Given the description of an element on the screen output the (x, y) to click on. 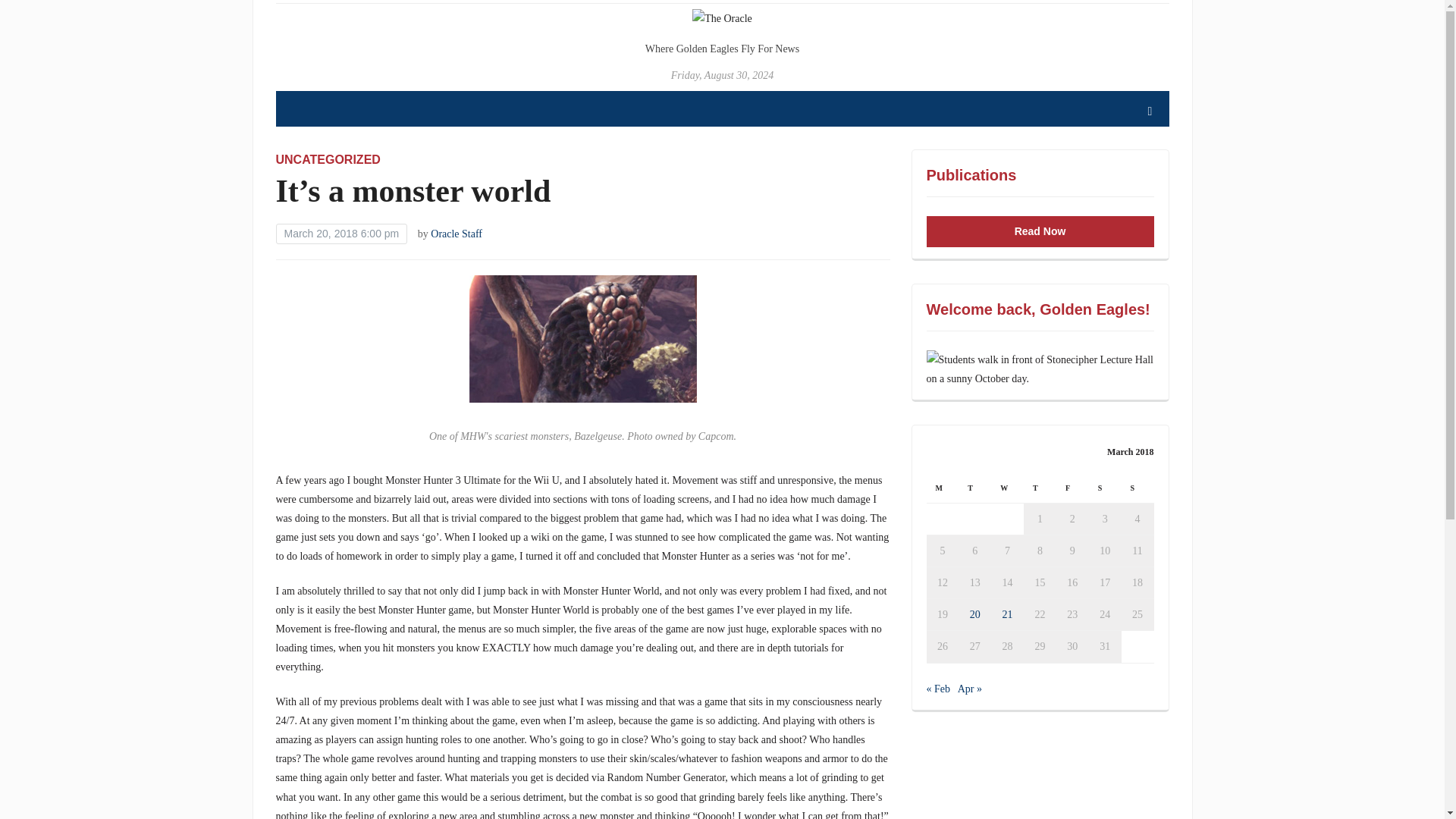
Search (1149, 111)
Friday (1073, 487)
Read Now (1040, 231)
Tuesday (974, 487)
Monday (942, 487)
Thursday (1040, 487)
Oracle Staff (455, 233)
20 (974, 614)
Saturday (1105, 487)
UNCATEGORIZED (328, 159)
